Given the description of an element on the screen output the (x, y) to click on. 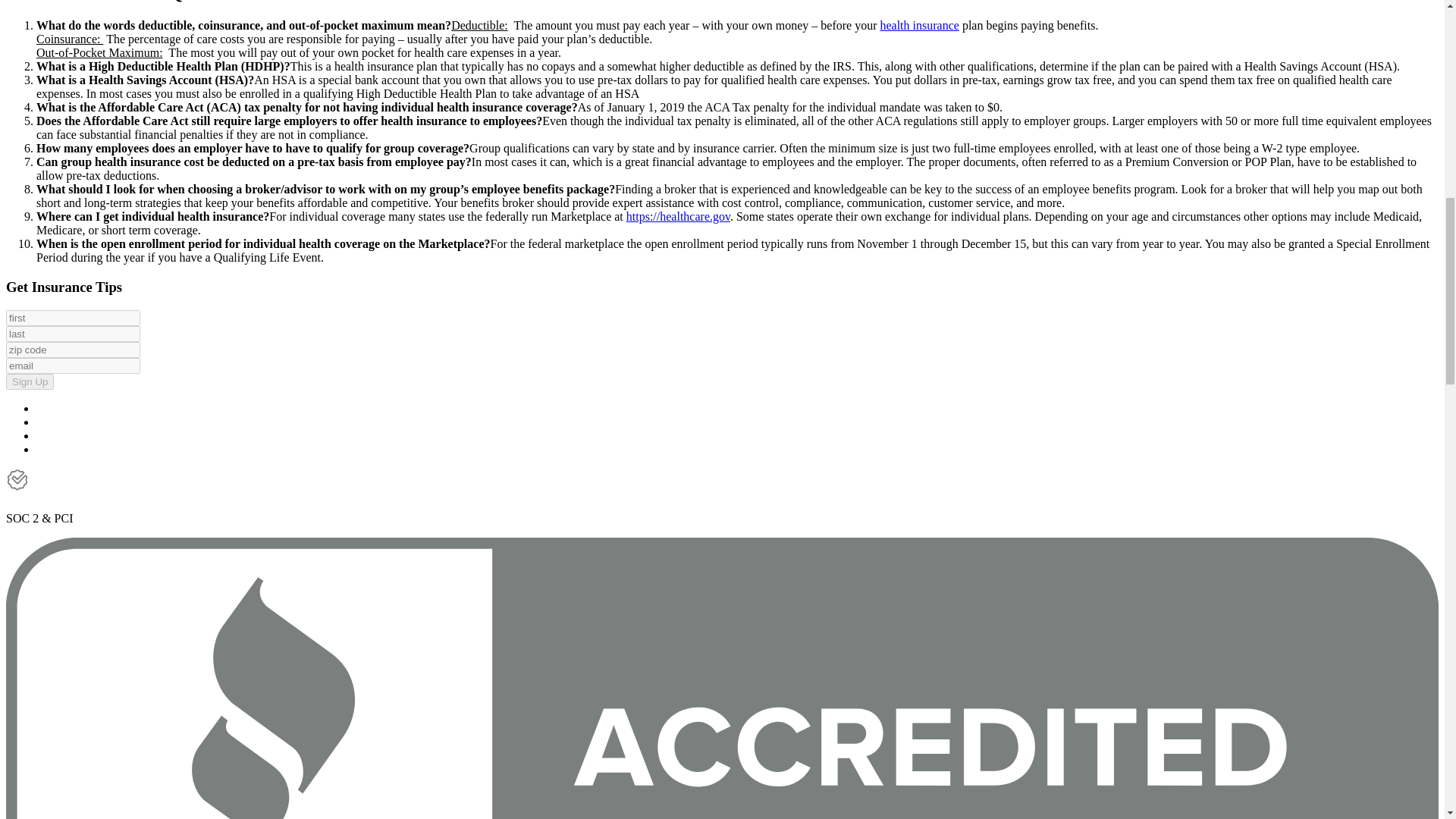
health insurance (918, 24)
Sign Up (29, 381)
